Given the description of an element on the screen output the (x, y) to click on. 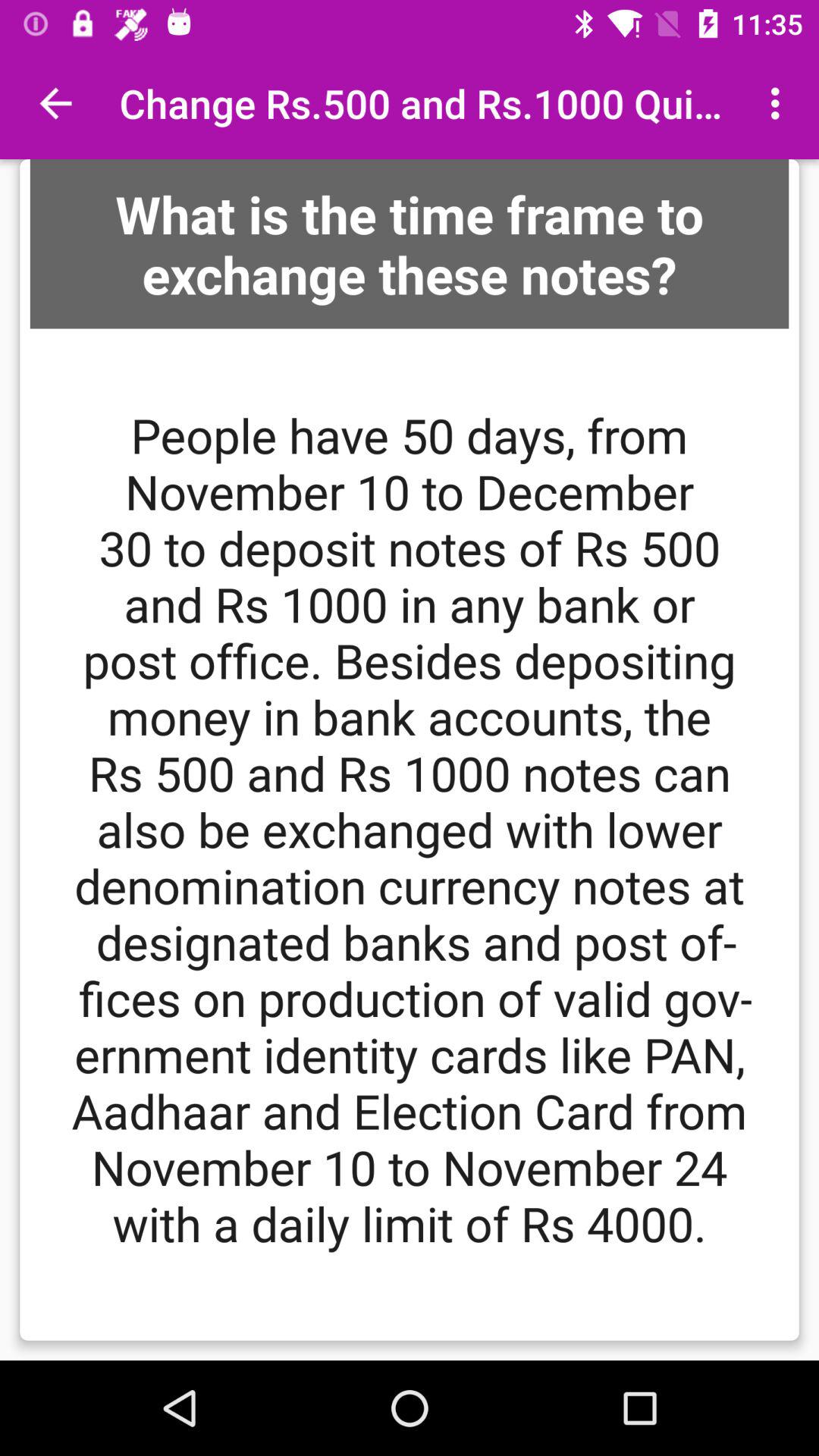
choose icon above what is the item (55, 103)
